Given the description of an element on the screen output the (x, y) to click on. 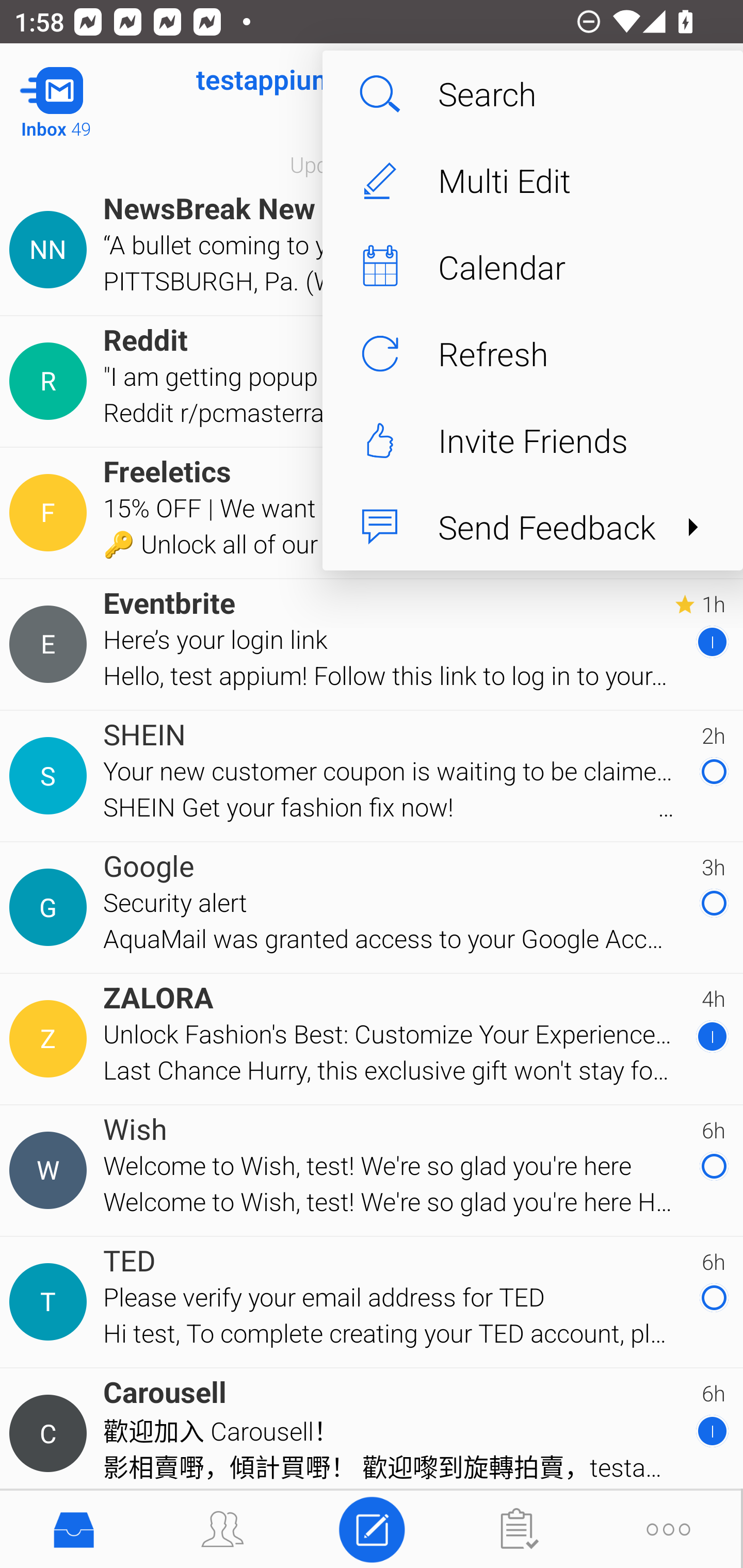
Search (532, 93)
Multi Edit (532, 180)
Calendar (532, 267)
Refresh (532, 353)
Invite Friends (532, 440)
Send Feedback (532, 527)
